Given the description of an element on the screen output the (x, y) to click on. 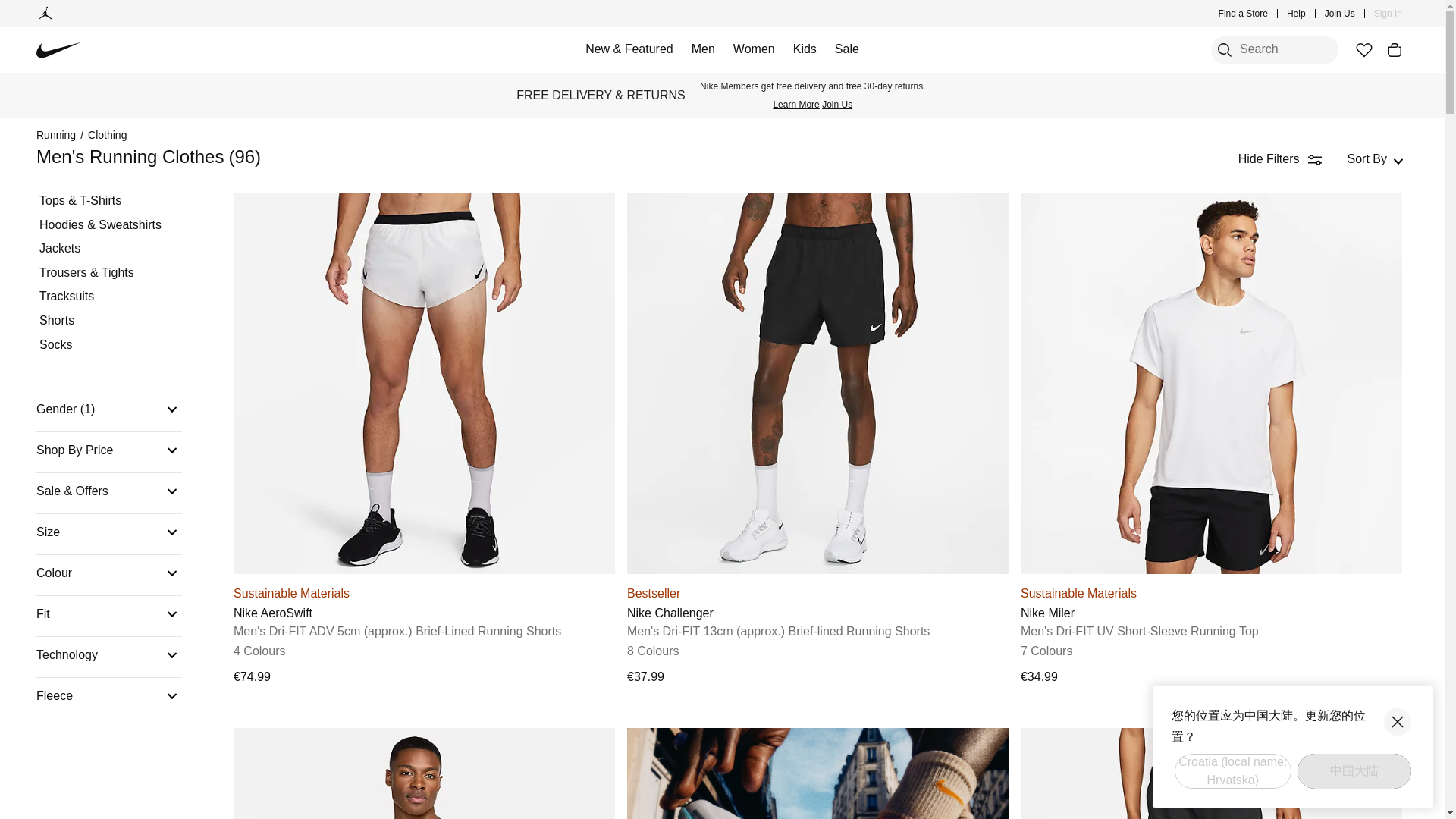
Find a Store (1243, 13)
Bag Items: 0 (1393, 49)
Favourites (1364, 49)
Sign In (1388, 13)
Help (1296, 13)
Join Us (1339, 13)
